Given the description of an element on the screen output the (x, y) to click on. 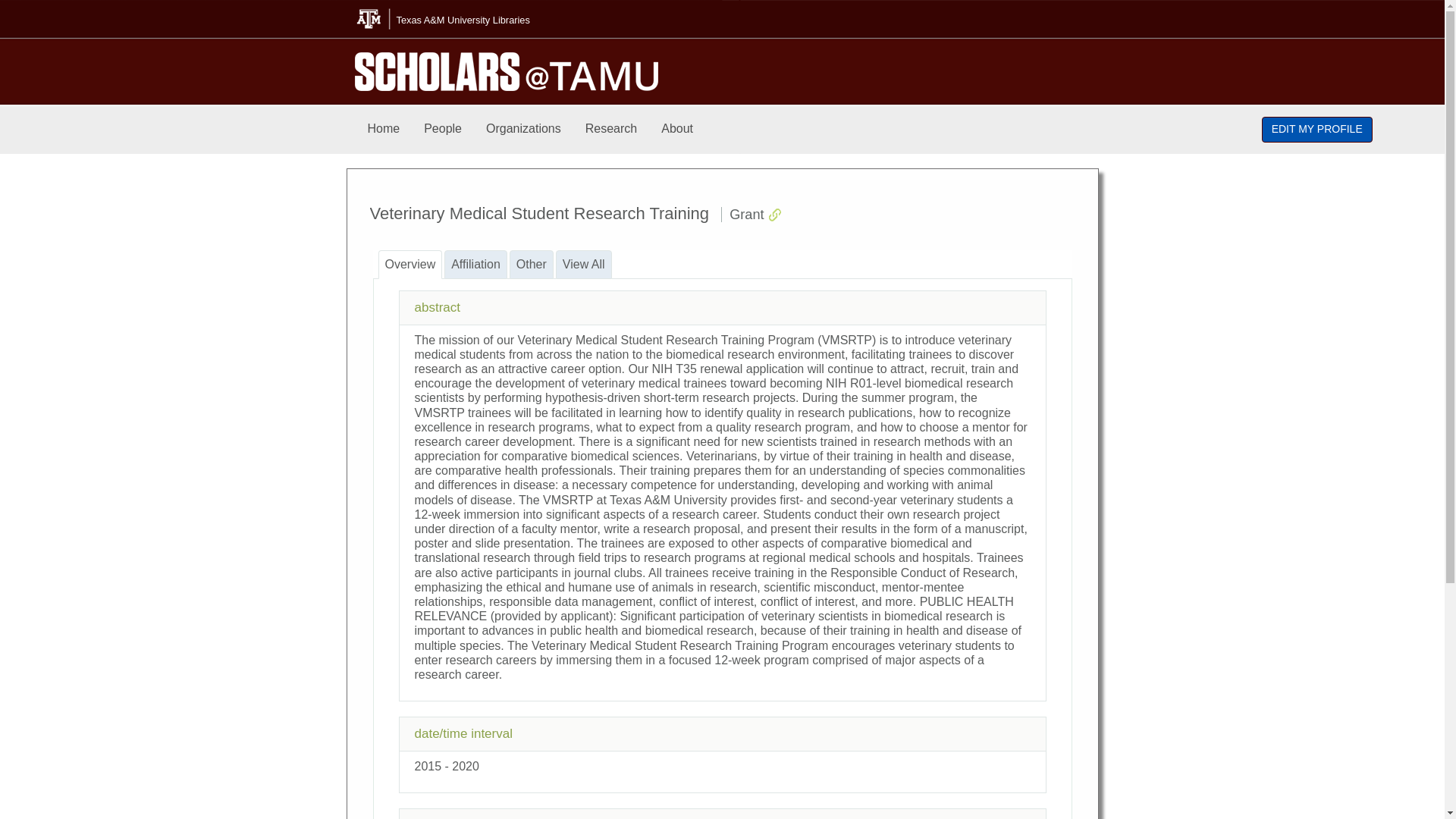
People (443, 128)
About (676, 128)
About menu item (676, 128)
People menu item (443, 128)
Organizations (523, 128)
Research (611, 128)
Home menu item (383, 128)
Home (383, 128)
Organizations menu item (523, 128)
EDIT MY PROFILE (1317, 129)
Research menu item (611, 128)
